Given the description of an element on the screen output the (x, y) to click on. 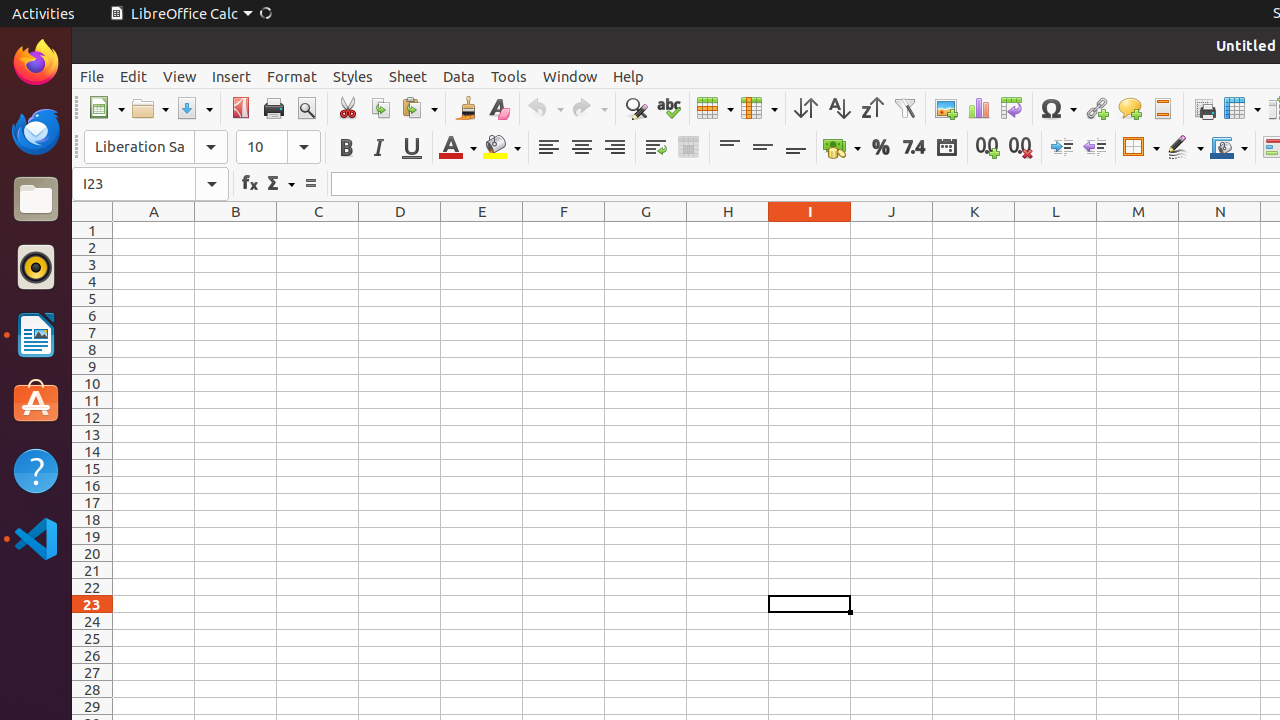
Pivot Table Element type: push-button (1011, 108)
Sort Element type: push-button (805, 108)
Font Name Element type: panel (156, 147)
Comment Element type: push-button (1129, 108)
Wrap Text Element type: push-button (655, 147)
